Given the description of an element on the screen output the (x, y) to click on. 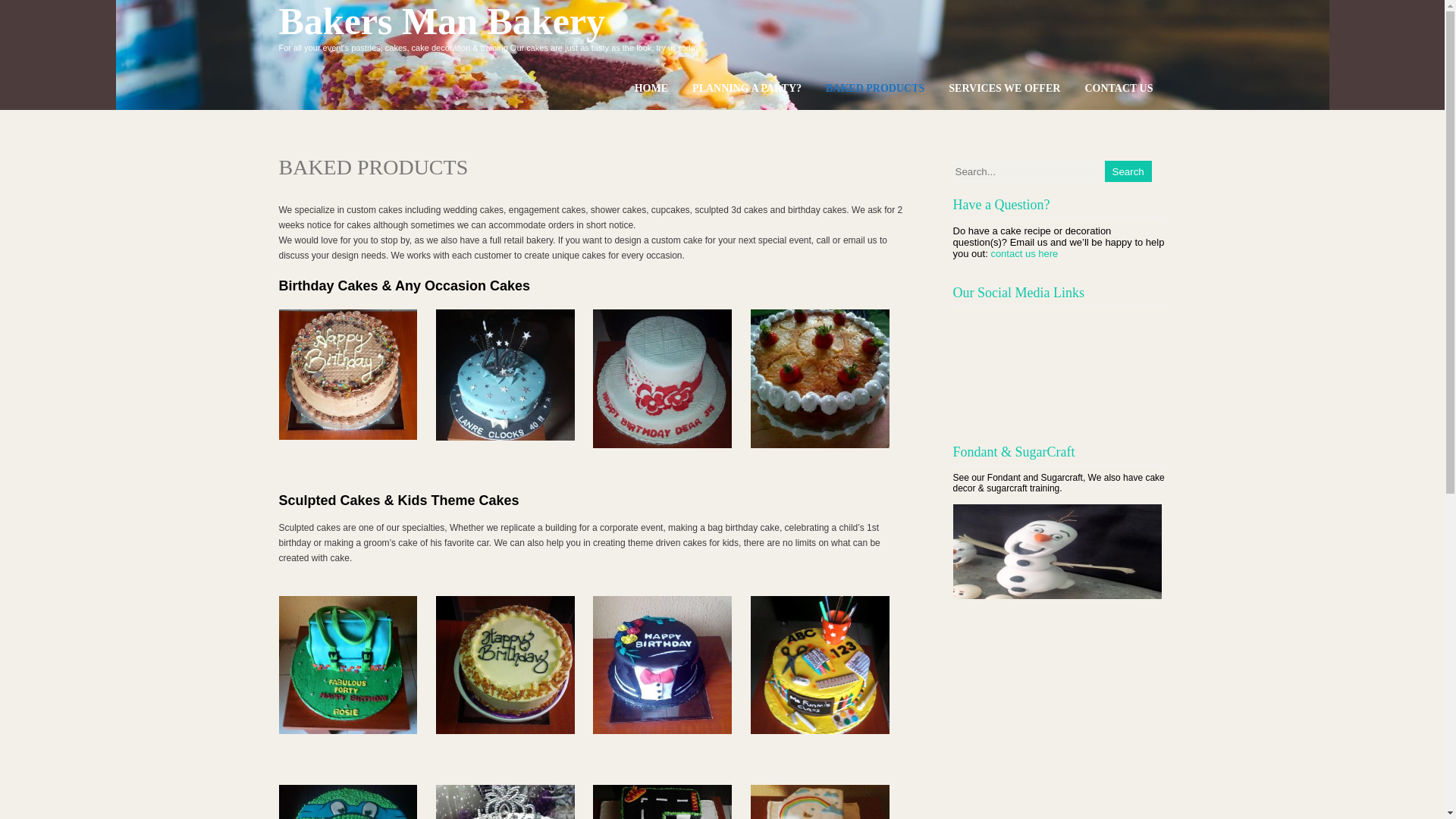
HOME (651, 88)
SERVICES WE OFFER (1004, 88)
BAKED PRODUCTS (874, 88)
CONTACT US (1118, 88)
Search (1128, 170)
Search (1128, 170)
PLANNING A PARTY? (746, 88)
Bakers Man Bakery (442, 21)
contact us here (1024, 253)
Search (1128, 170)
